Given the description of an element on the screen output the (x, y) to click on. 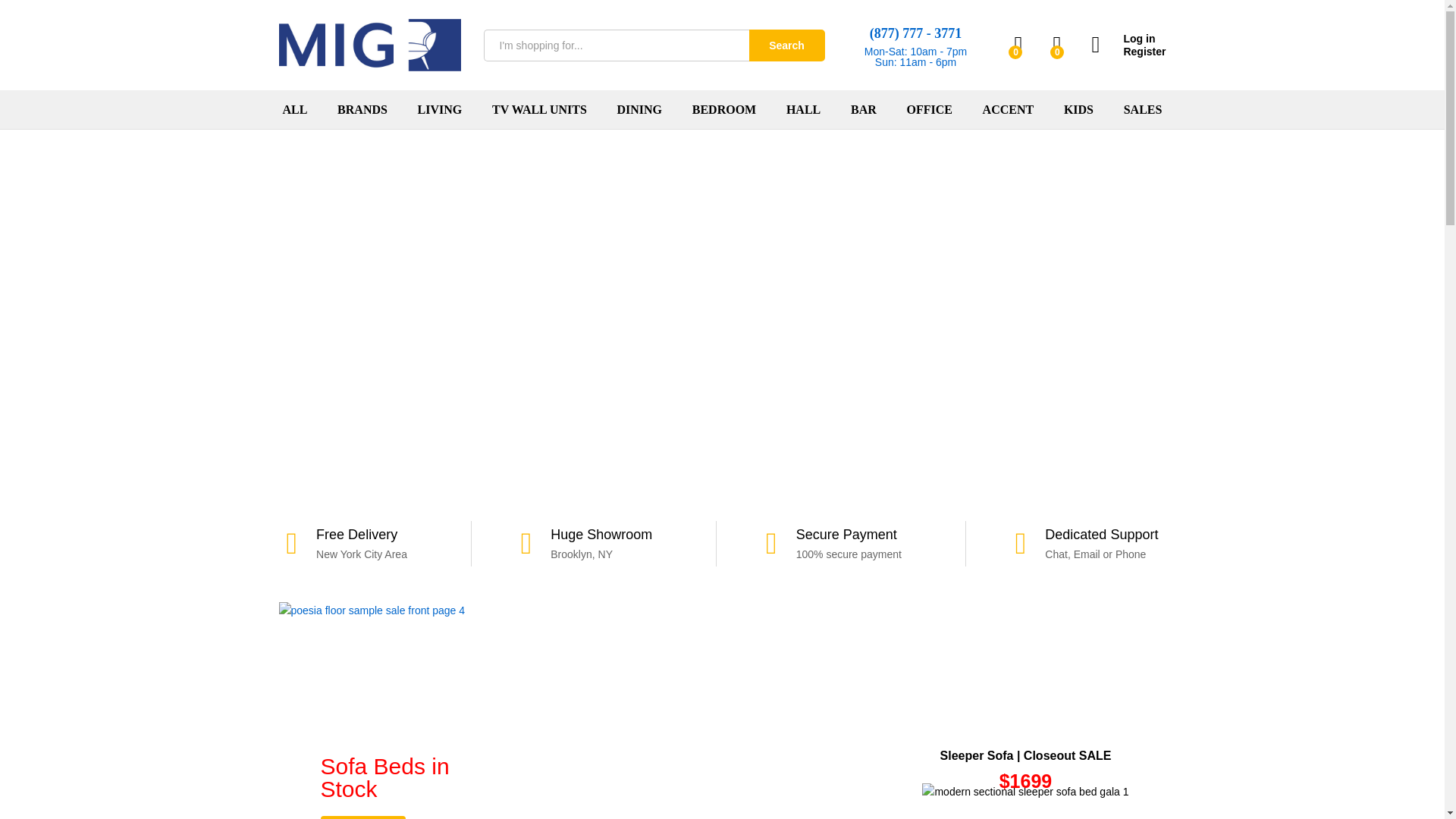
Bedroom Furniture (724, 110)
Hallway Furniture (803, 110)
BRANDS (362, 110)
ALL (294, 110)
Register (1128, 51)
Office Furniture (928, 110)
Log in (1128, 38)
Living Room Furniture (440, 110)
Kids Furniture (1078, 110)
Bar Furniture (863, 110)
